Given the description of an element on the screen output the (x, y) to click on. 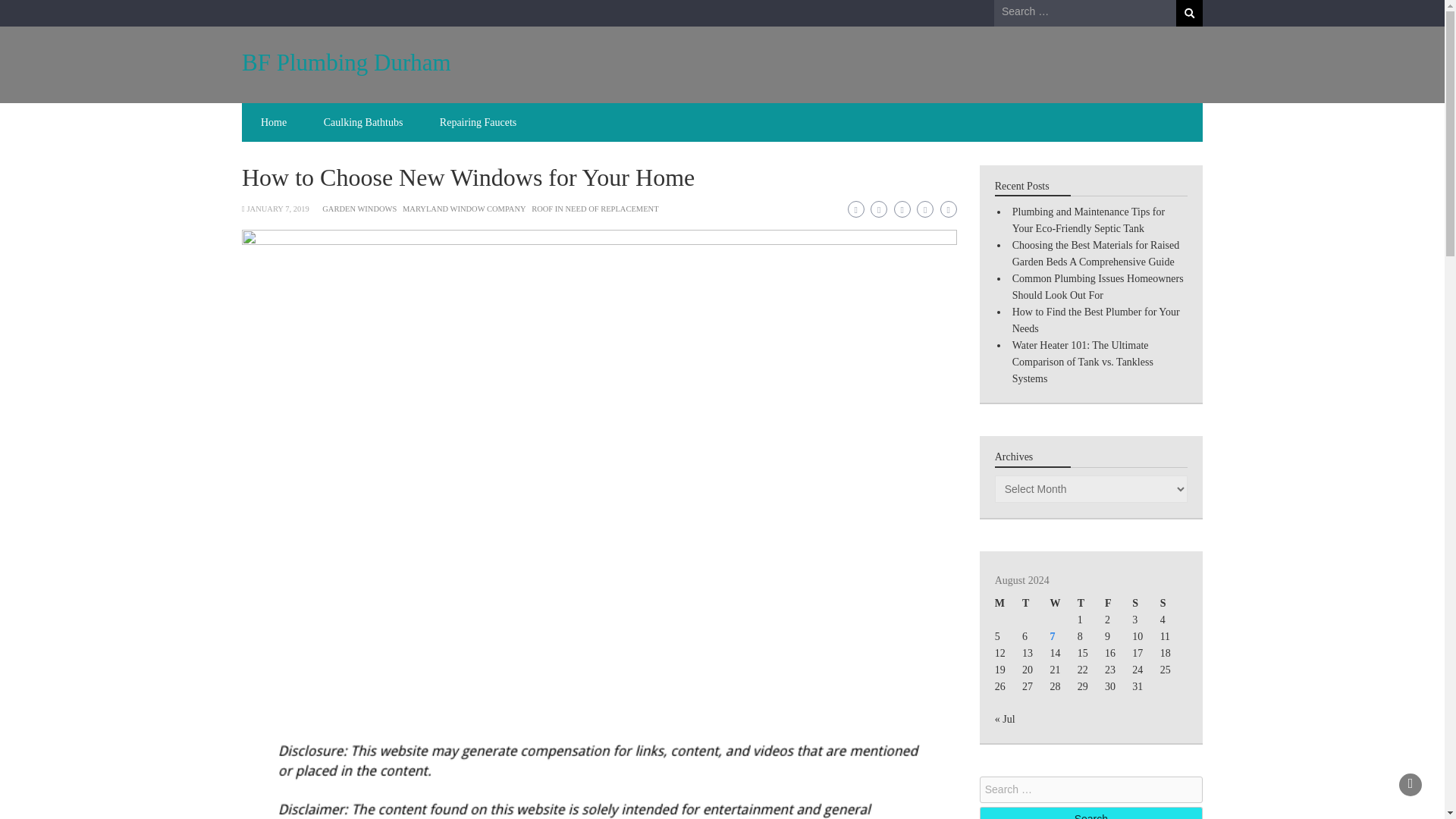
ROOF IN NEED OF REPLACEMENT (594, 208)
Search (1090, 812)
Search (1189, 13)
Sunday (1174, 603)
Saturday (1145, 603)
Search (1189, 13)
Thursday (1091, 603)
Friday (1118, 603)
Search (1189, 13)
